Given the description of an element on the screen output the (x, y) to click on. 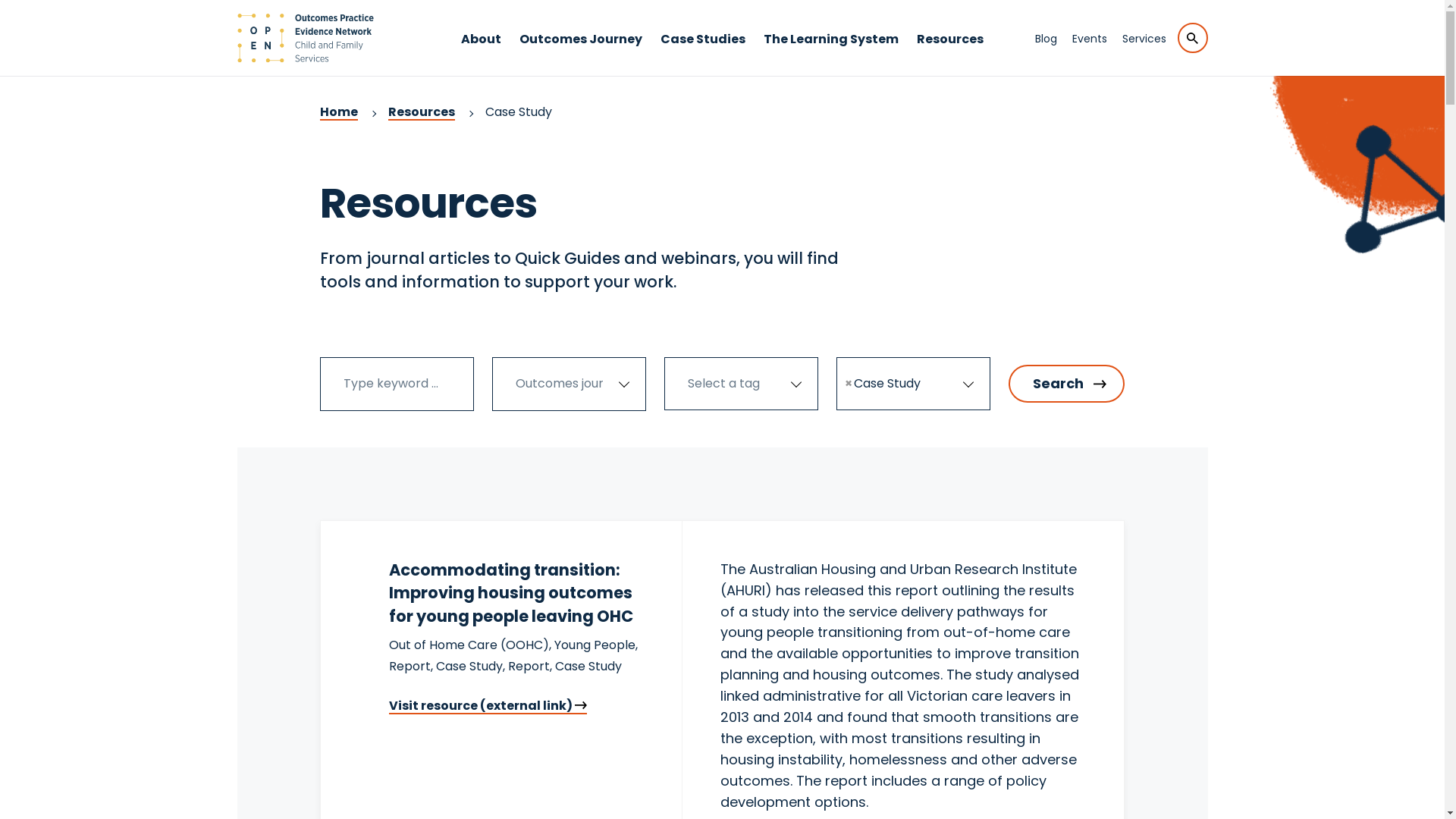
Blog Element type: text (1045, 38)
Out of Home Care (OOHC) Element type: text (469, 644)
Case Studies Element type: text (702, 52)
The Learning System Element type: text (830, 52)
Home Element type: text (338, 111)
Services Element type: text (1144, 38)
Resources Element type: text (949, 52)
About Element type: text (481, 52)
Search Element type: text (1066, 383)
Case Study Element type: text (469, 665)
Case Study Element type: text (588, 665)
Resources Element type: text (421, 111)
Go to home page Element type: hover (304, 37)
Events Element type: text (1089, 38)
Report Element type: text (409, 665)
Visit resource (external link) Element type: text (487, 704)
Report Element type: text (528, 665)
Outcomes Journey Element type: text (580, 52)
Young People Element type: text (594, 644)
